Given the description of an element on the screen output the (x, y) to click on. 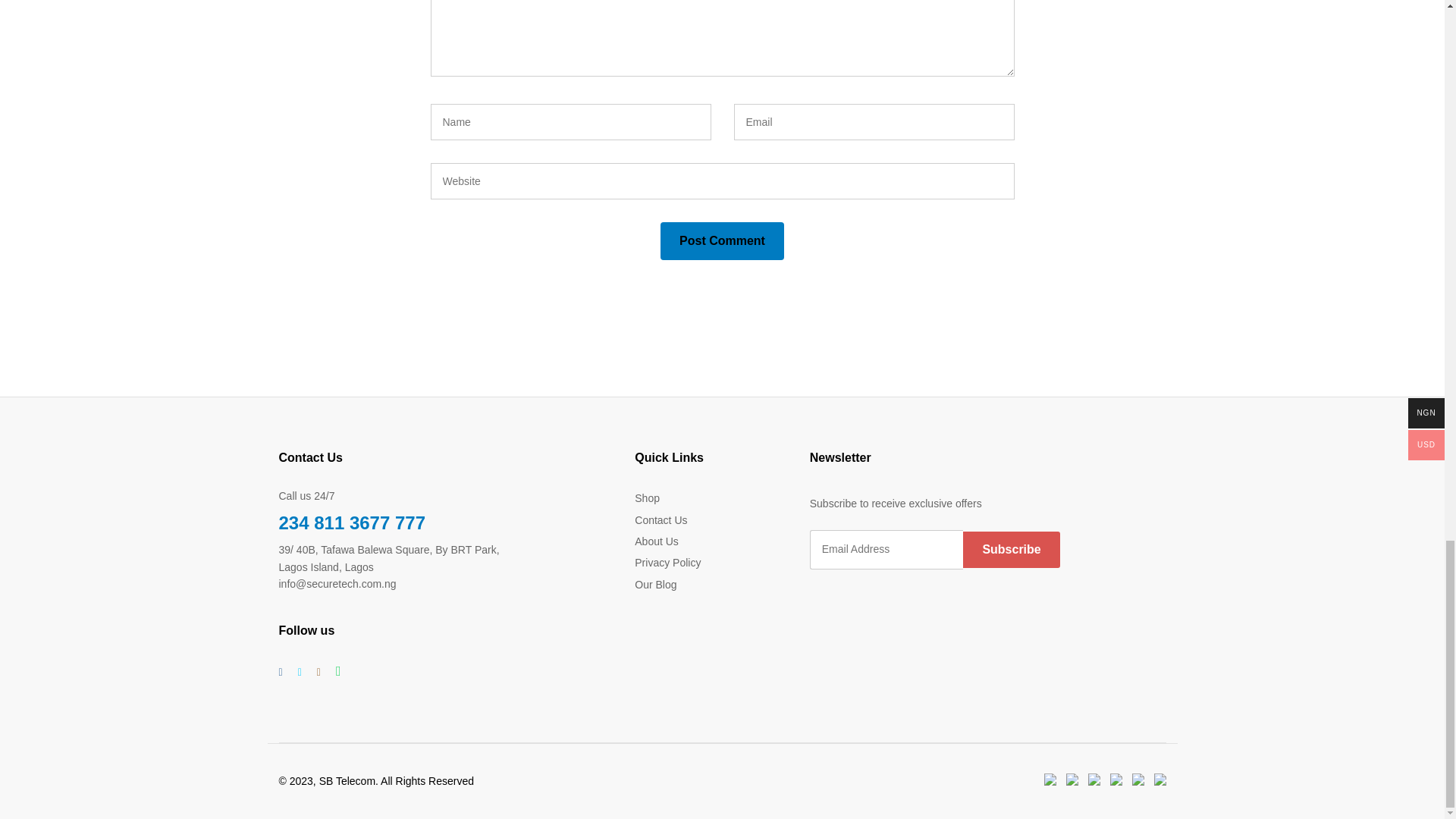
Facebook (279, 671)
Instagram (318, 671)
Subscribe (1010, 549)
Twitter (298, 671)
Whatsapp (339, 671)
Post Comment (722, 240)
